Given the description of an element on the screen output the (x, y) to click on. 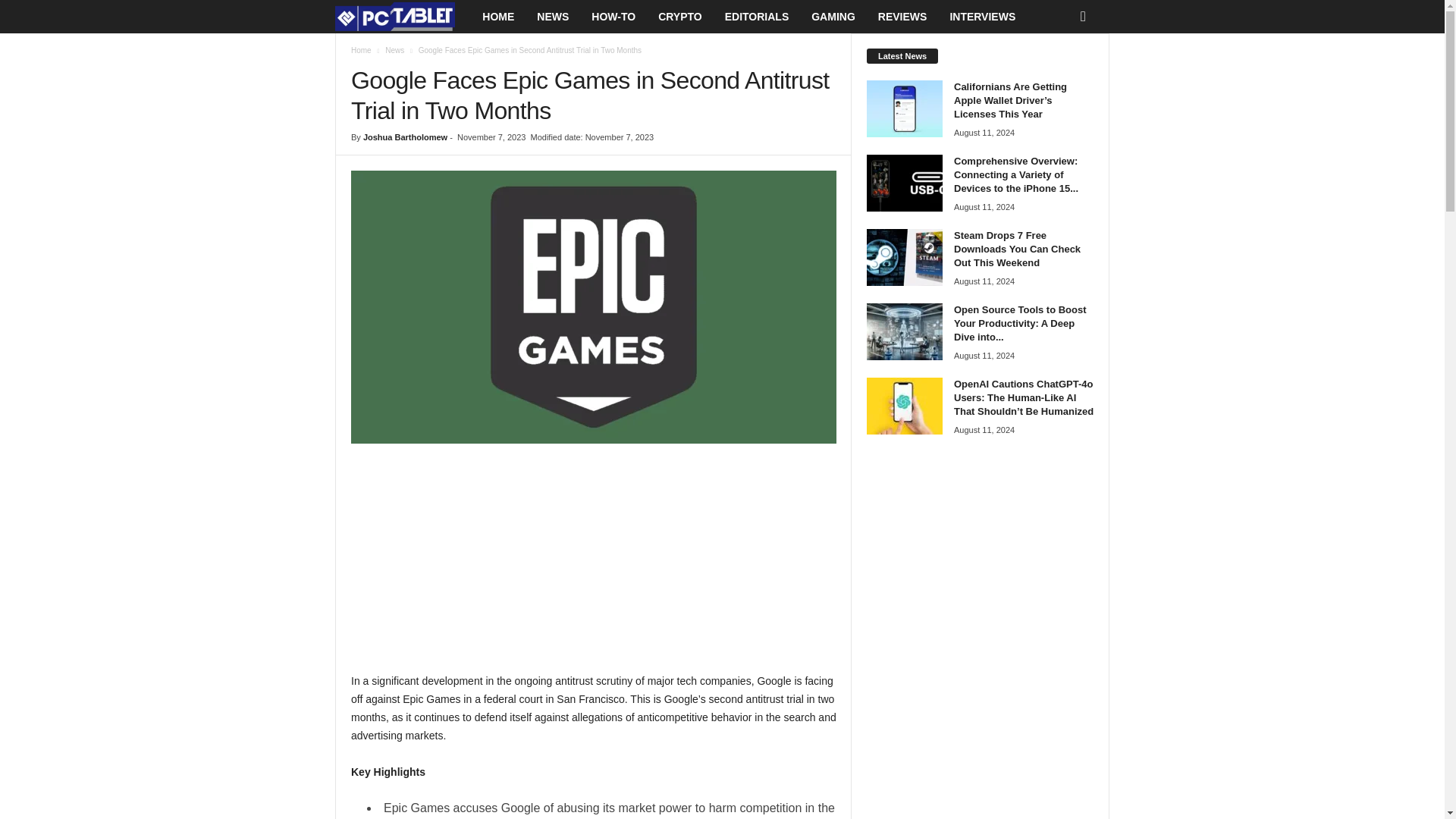
EDITORIALS (756, 16)
View all posts in News (394, 49)
GAMING (832, 16)
HOME (497, 16)
NEWS (552, 16)
REVIEWS (902, 16)
Joshua Bartholomew (404, 136)
HOW-TO (612, 16)
Advertisement (592, 565)
google-epic-games-antitrust-trial-20231106184830 (592, 306)
